Given the description of an element on the screen output the (x, y) to click on. 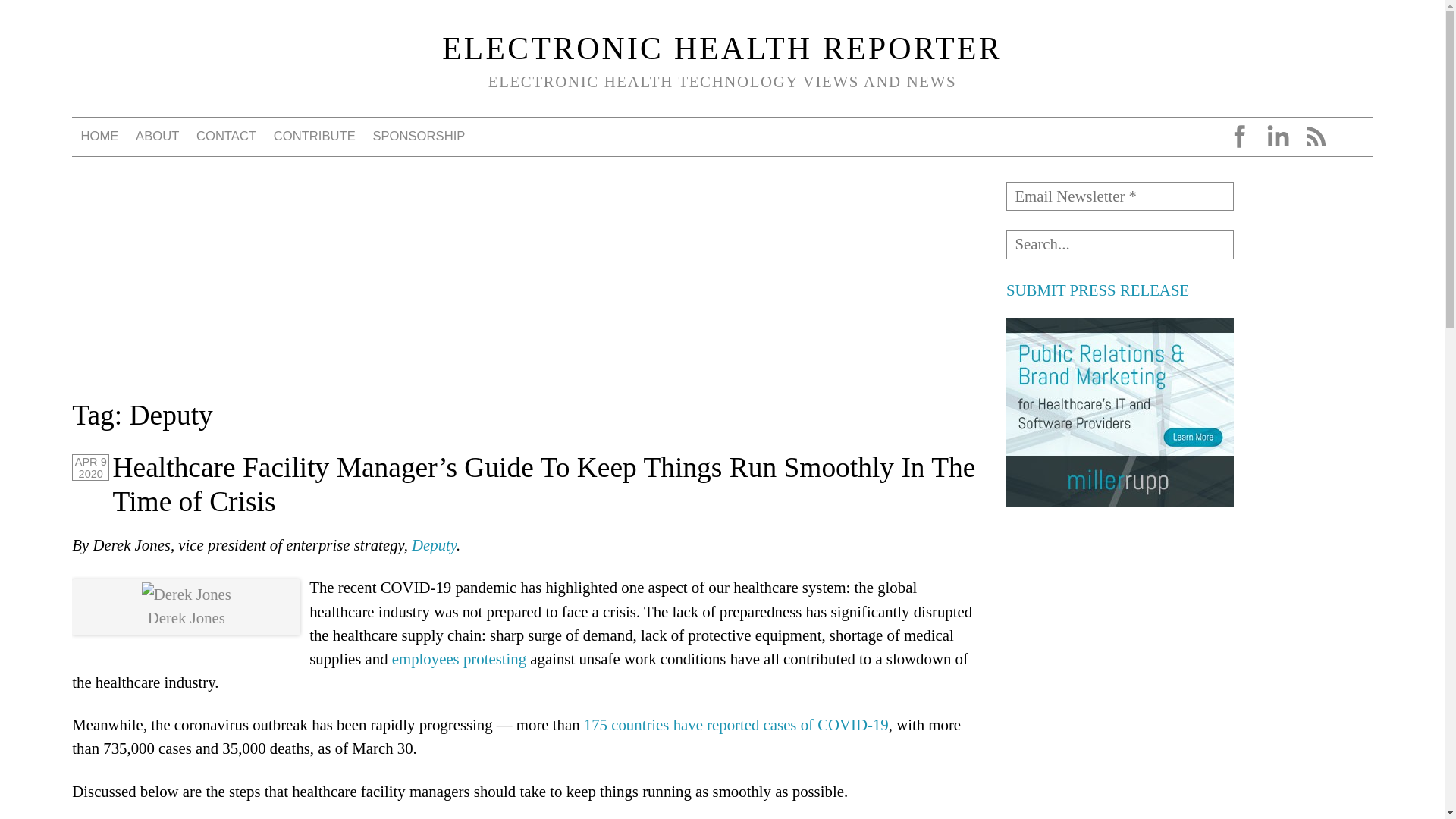
Advertisement (1119, 624)
ABOUT (157, 136)
175 countries have reported cases of COVID-19 (735, 724)
LINKEDIN (1277, 136)
FACEBOOK (1239, 136)
Advertisement (1119, 780)
employees protesting (458, 658)
RSS FEED (1315, 136)
Subscribe (48, 16)
Deputy (434, 544)
SPONSORSHIP (418, 136)
Email Newsletter (1119, 195)
HOME (99, 136)
SUBMIT PRESS RELEASE (1097, 289)
